Given the description of an element on the screen output the (x, y) to click on. 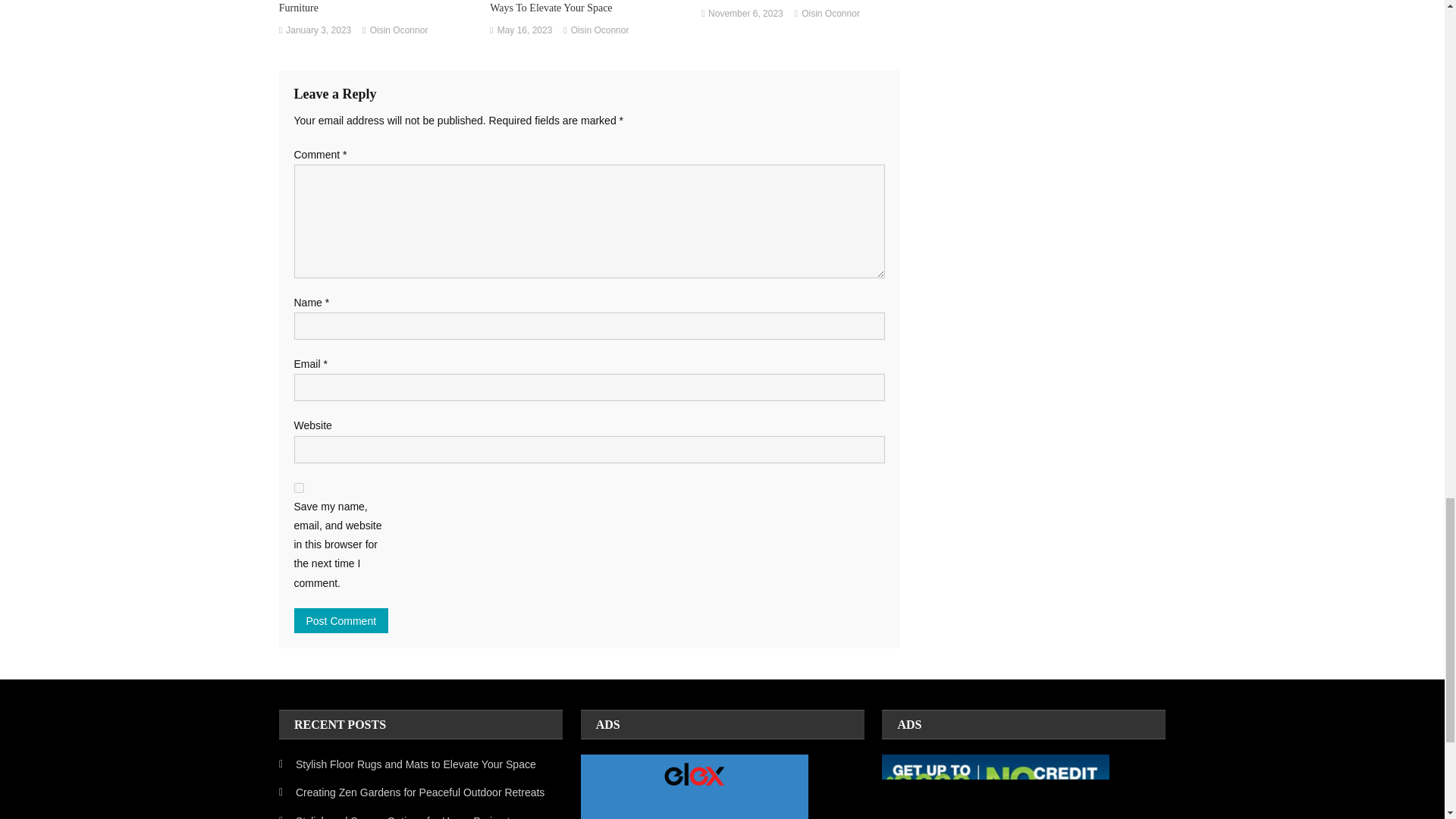
Oisin Oconnor (398, 30)
How To Care For And Maintain Outdoor Furniture (378, 8)
January 3, 2023 (317, 30)
Stylish and Secure Options for Home Perimeters (401, 815)
May 16, 2023 (525, 30)
Post Comment (341, 620)
yes (299, 488)
Post Comment (341, 620)
Stylish Floor Rugs and Mats to Elevate Your Space (407, 763)
November 6, 2023 (745, 13)
